Given the description of an element on the screen output the (x, y) to click on. 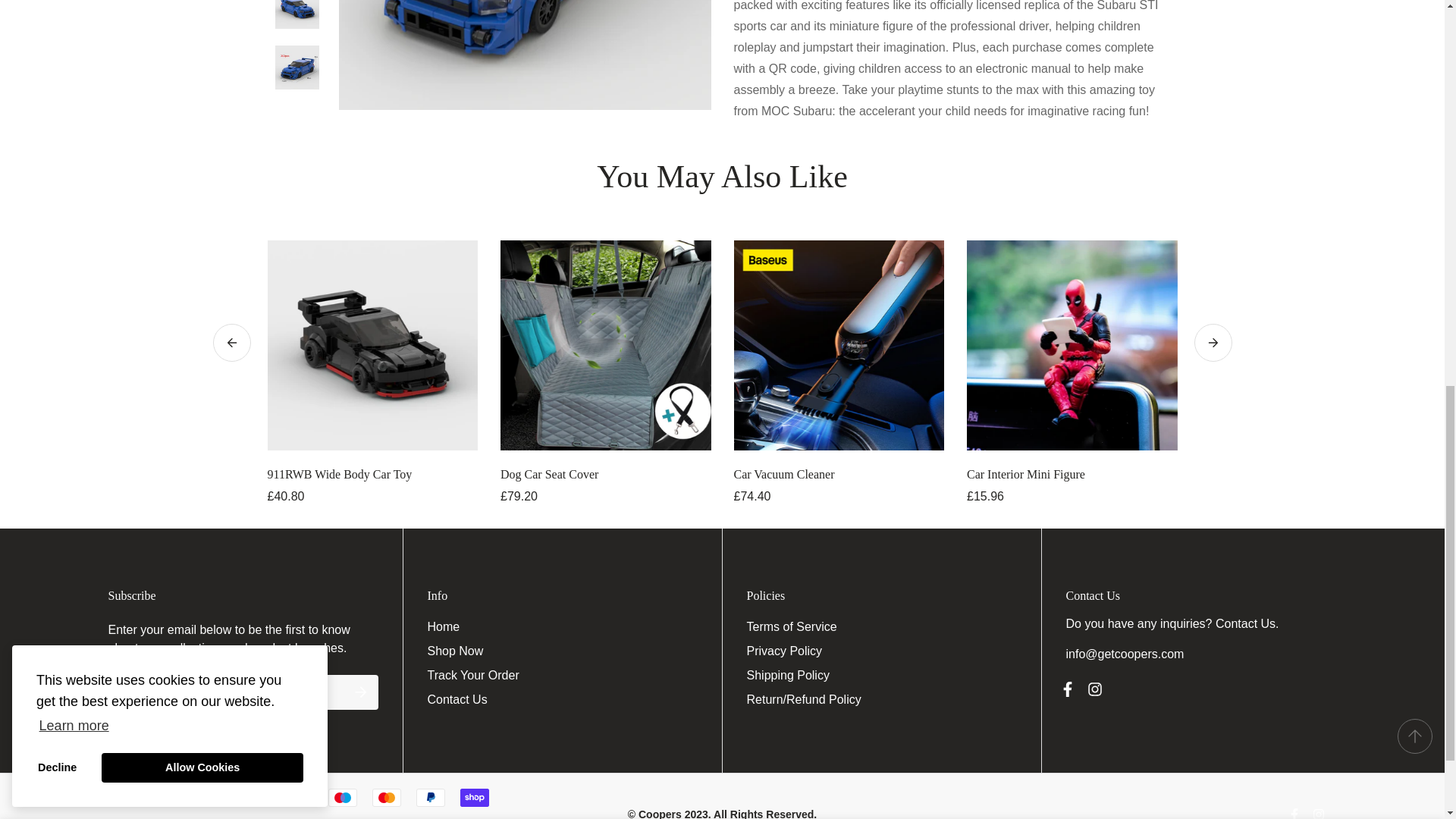
Contact Us (1245, 623)
1 (990, 28)
